Given the description of an element on the screen output the (x, y) to click on. 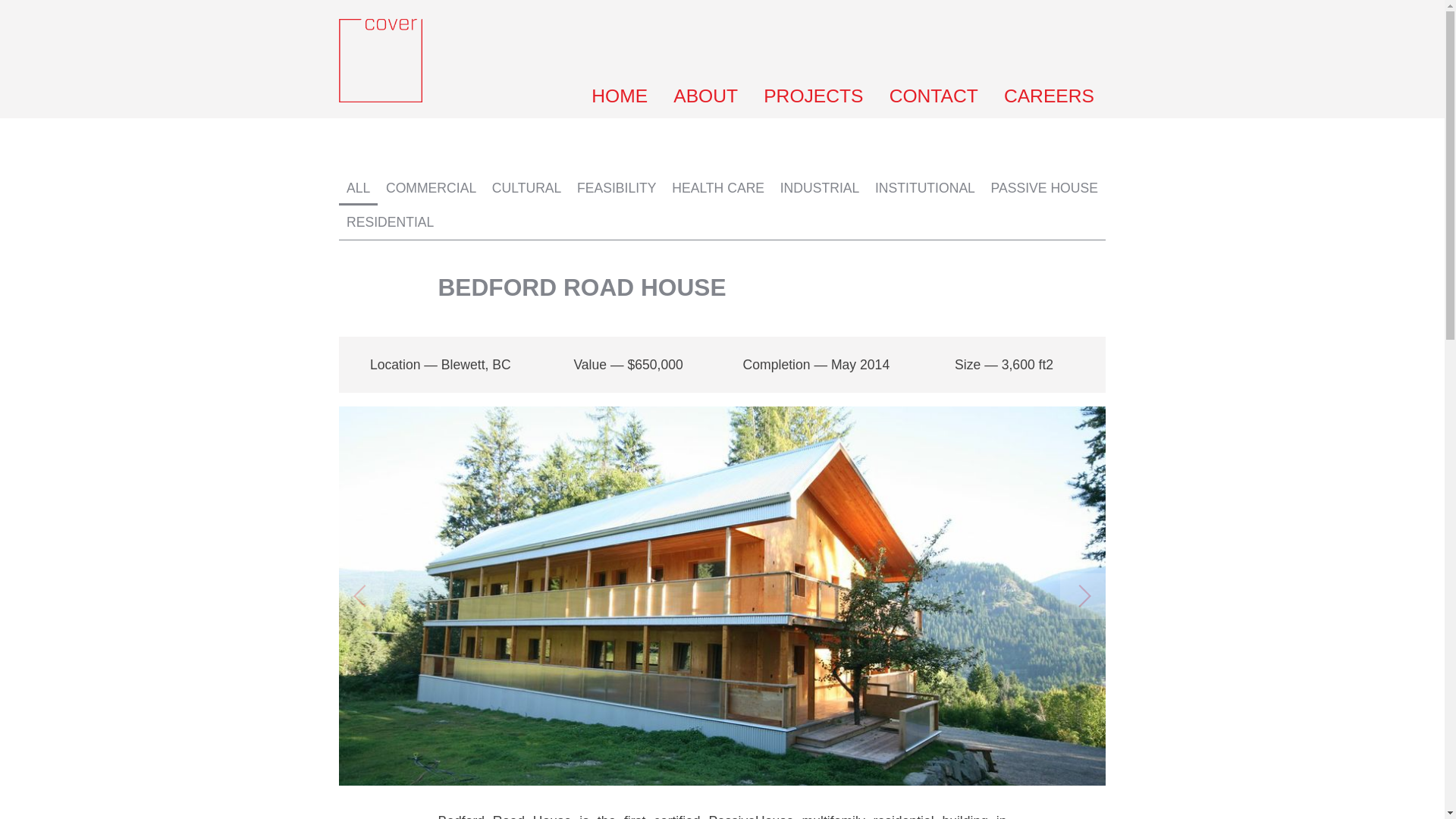
FEASIBILITY (616, 188)
PROJECTS (812, 98)
CULTURAL (526, 188)
INSTITUTIONAL (924, 188)
ABOUT (705, 98)
CAREERS (1049, 98)
HOME (619, 98)
COMMERCIAL (430, 188)
CONTACT (933, 98)
PASSIVE HOUSE (1044, 188)
